Given the description of an element on the screen output the (x, y) to click on. 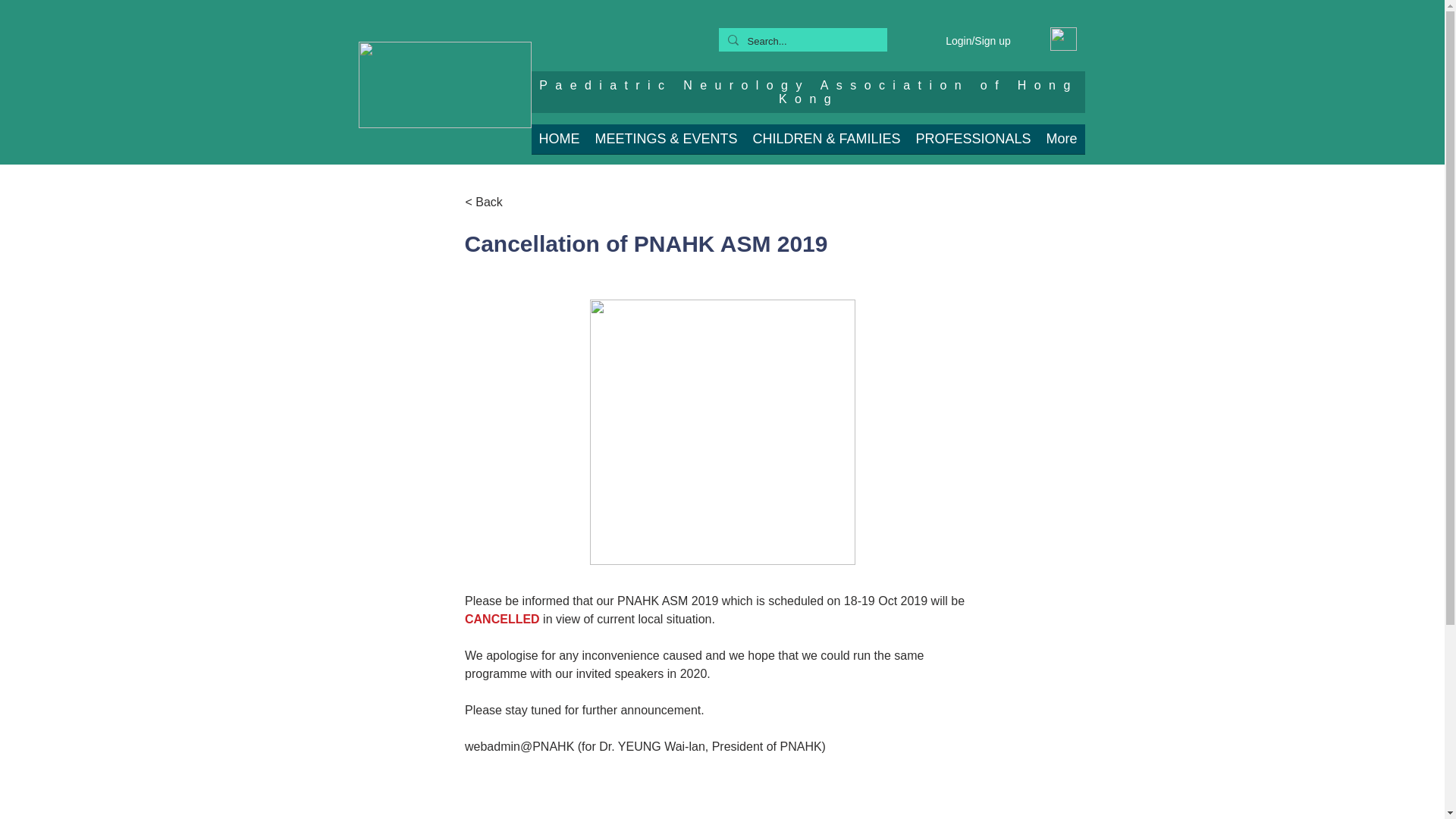
HOME (558, 143)
PROFESSIONALS (973, 143)
